Given the description of an element on the screen output the (x, y) to click on. 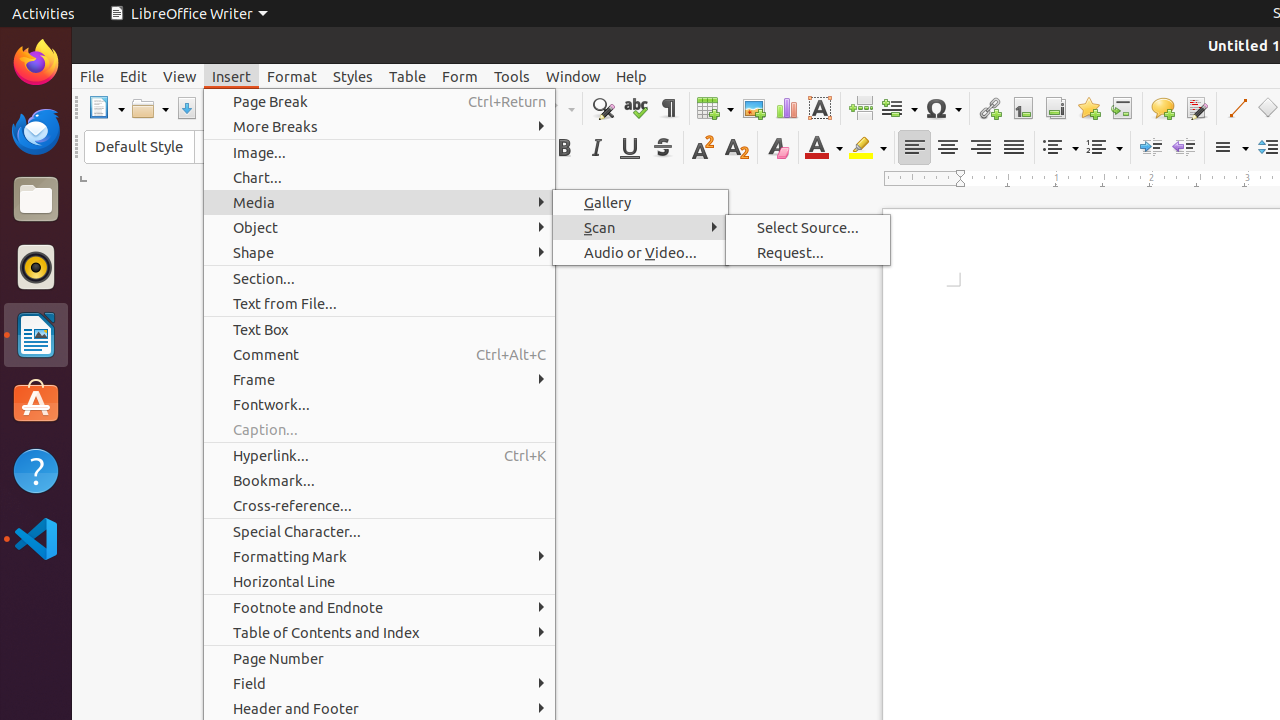
Caption... Element type: menu-item (379, 429)
Files Element type: push-button (36, 199)
Gallery Element type: menu-item (640, 202)
Cross-reference Element type: push-button (1121, 108)
Find & Replace Element type: toggle-button (602, 108)
